Given the description of an element on the screen output the (x, y) to click on. 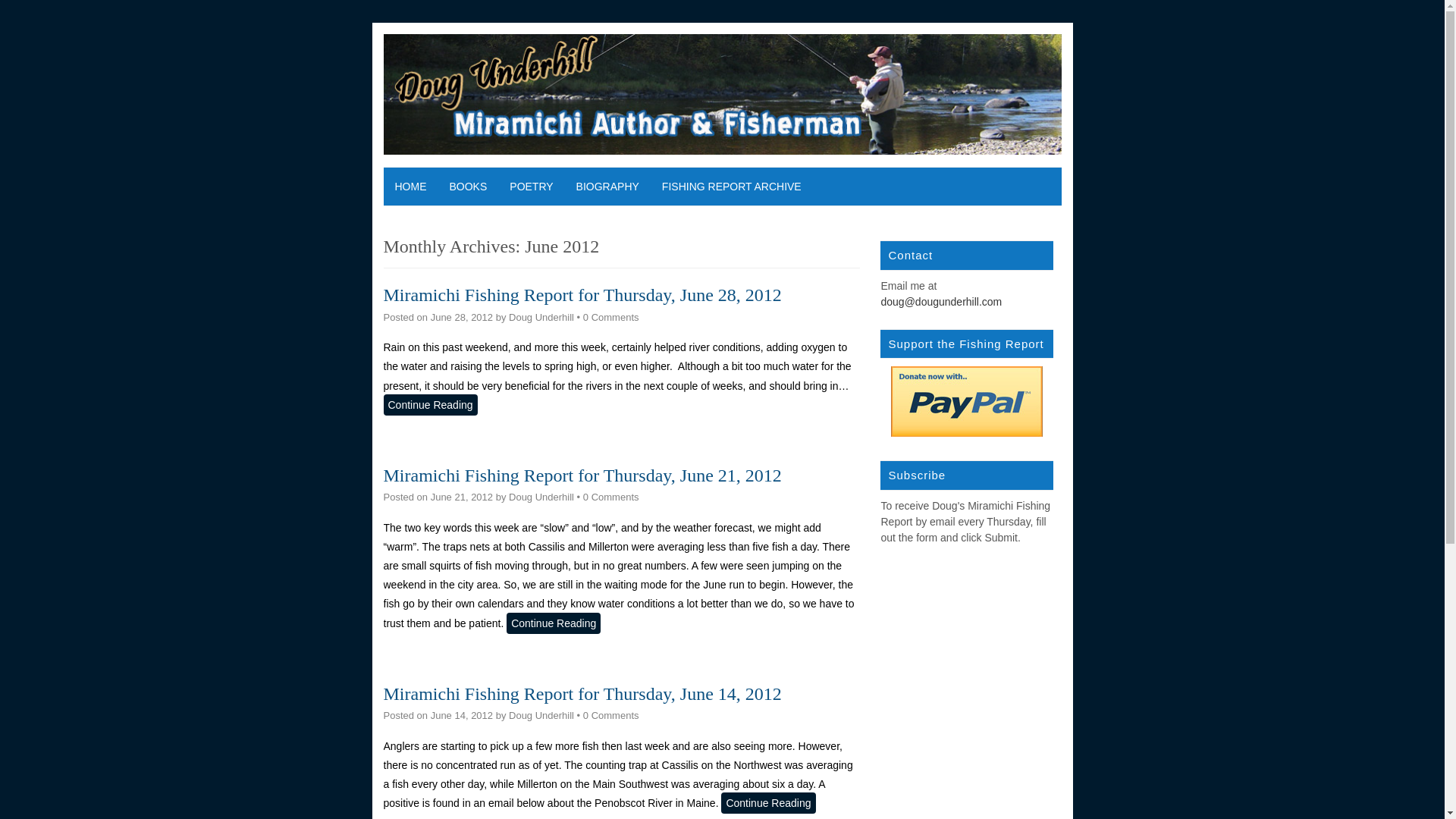
Miramichi Fishing Report for Thursday, June 21, 2012 (582, 475)
Miramichi Fishing Report for Thursday, June 28, 2012 (582, 294)
Miramichi Fishing Report for Thursday, June 14, 2012 (582, 693)
FISHING REPORT ARCHIVE (731, 186)
0 Comments (611, 317)
BIOGRAPHY (607, 186)
POETRY (530, 186)
BOOKS (468, 186)
0 Comments (611, 715)
Continue Reading (430, 404)
